Given the description of an element on the screen output the (x, y) to click on. 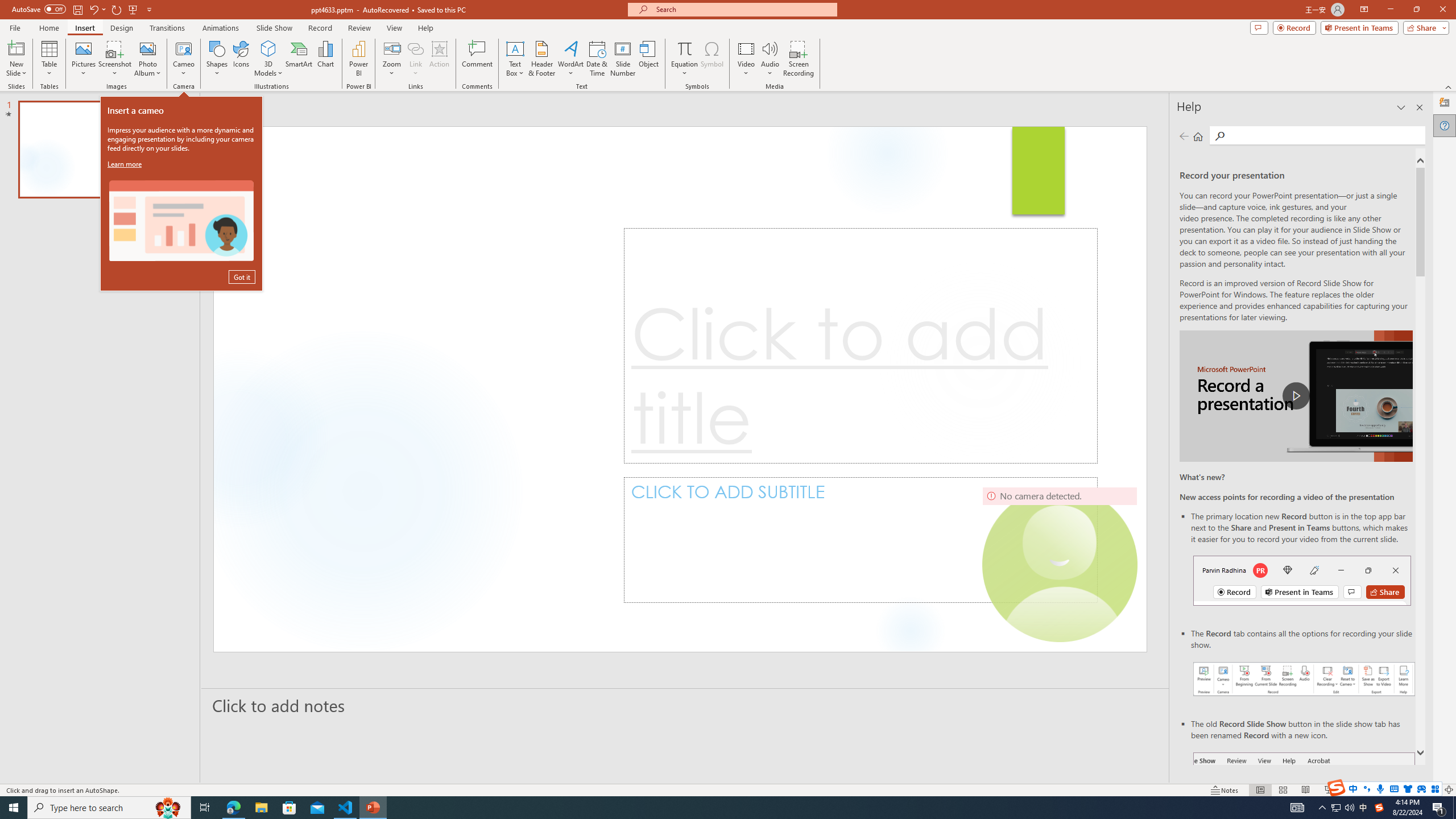
New Photo Album... (147, 48)
Record button in top bar (1301, 580)
Video (745, 58)
